Given the description of an element on the screen output the (x, y) to click on. 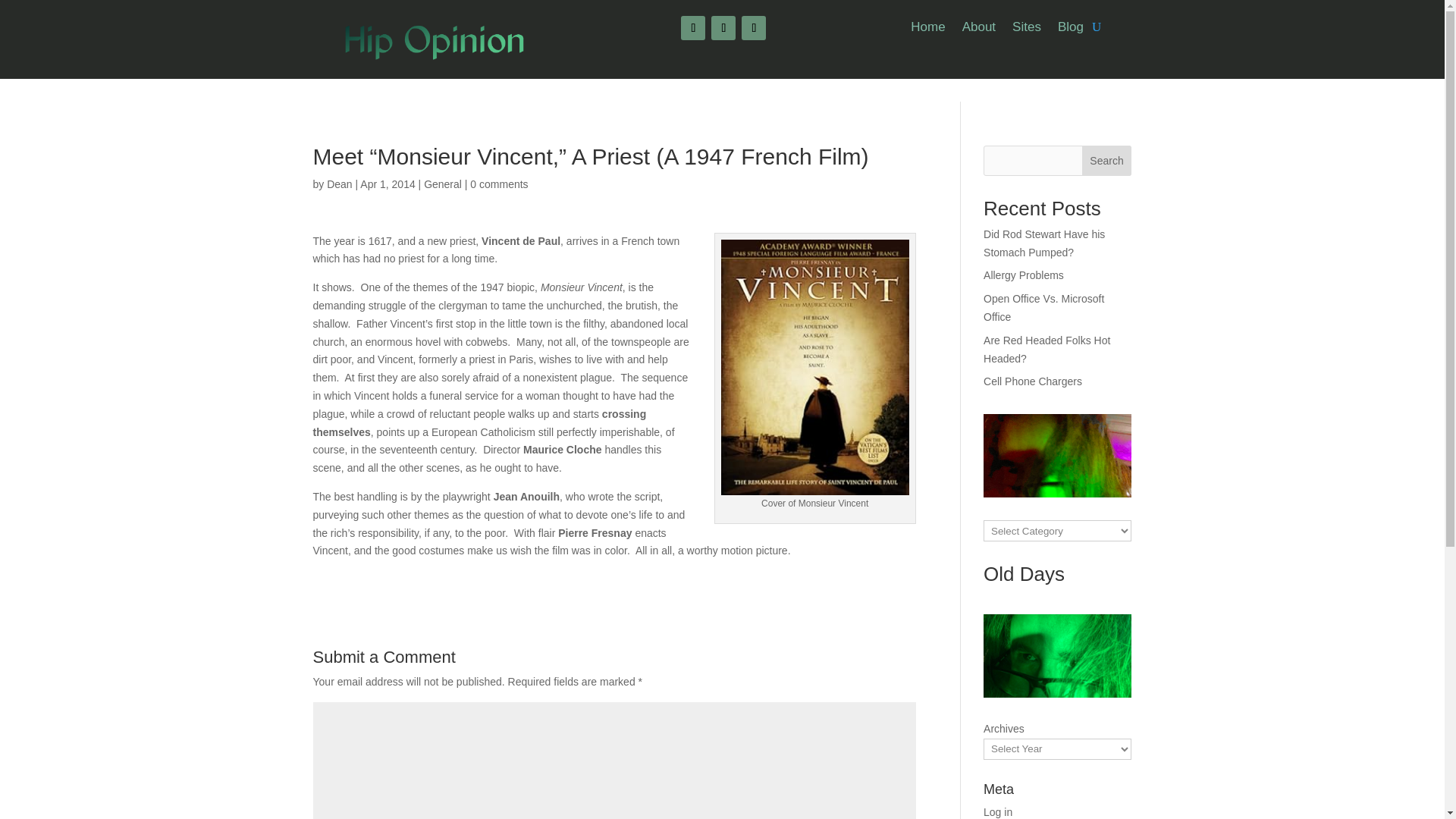
Log in (997, 811)
Sites (1026, 30)
Open Office Vs. Microsoft Office (1043, 307)
Follow on X (723, 27)
Search (1106, 160)
General (442, 184)
Cell Phone Chargers (1032, 381)
Did Rod Stewart Have his Stomach Pumped? (1044, 243)
Grelogo (433, 40)
Allergy Problems (1024, 275)
